Given the description of an element on the screen output the (x, y) to click on. 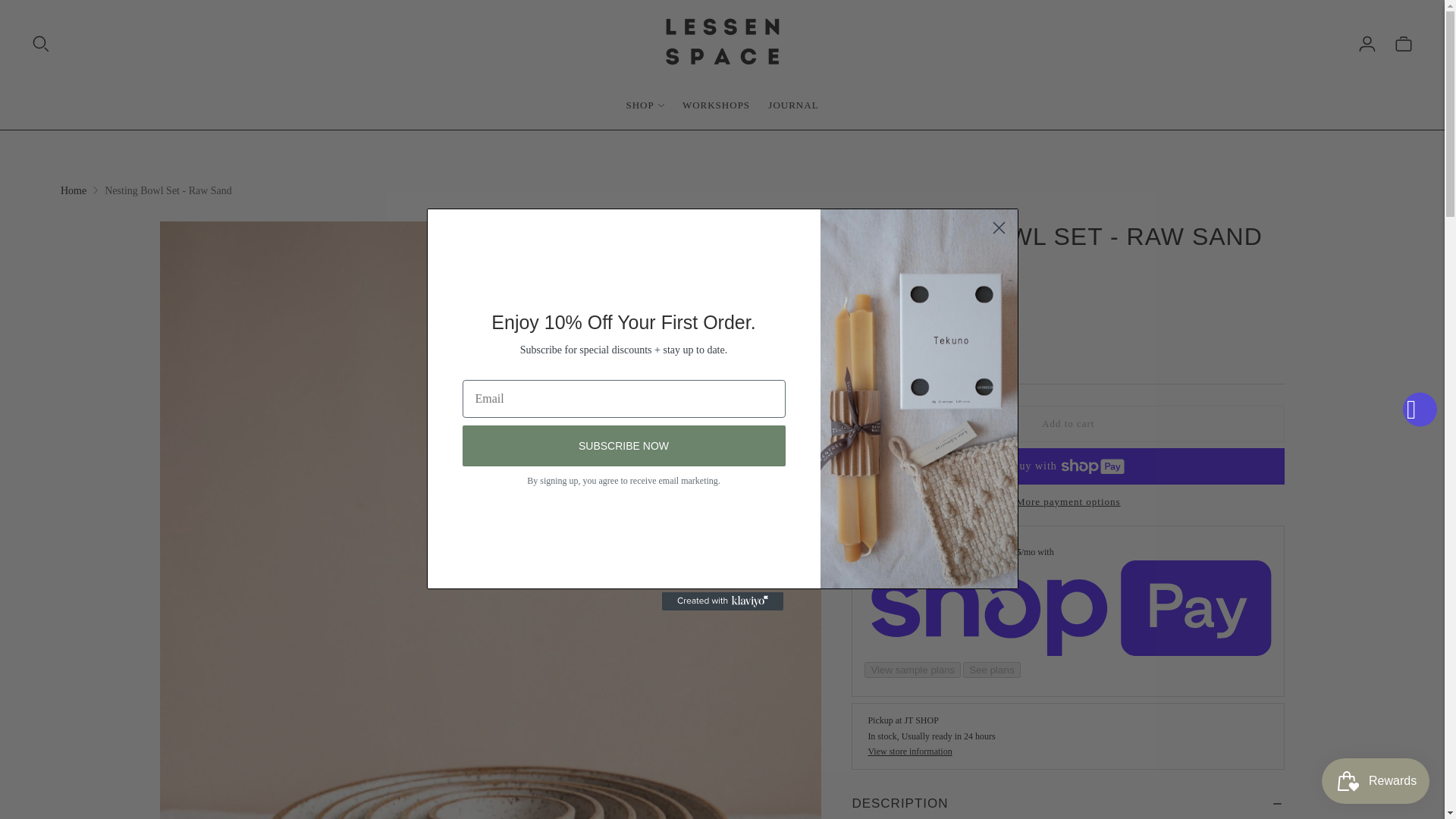
SHOP (644, 105)
WORKSHOPS (715, 105)
01 (895, 350)
Smile.io Rewards Program Launcher (1375, 780)
Close dialog 1 (998, 227)
EARTHEN Ceramics (899, 262)
JOURNAL (793, 105)
